Given the description of an element on the screen output the (x, y) to click on. 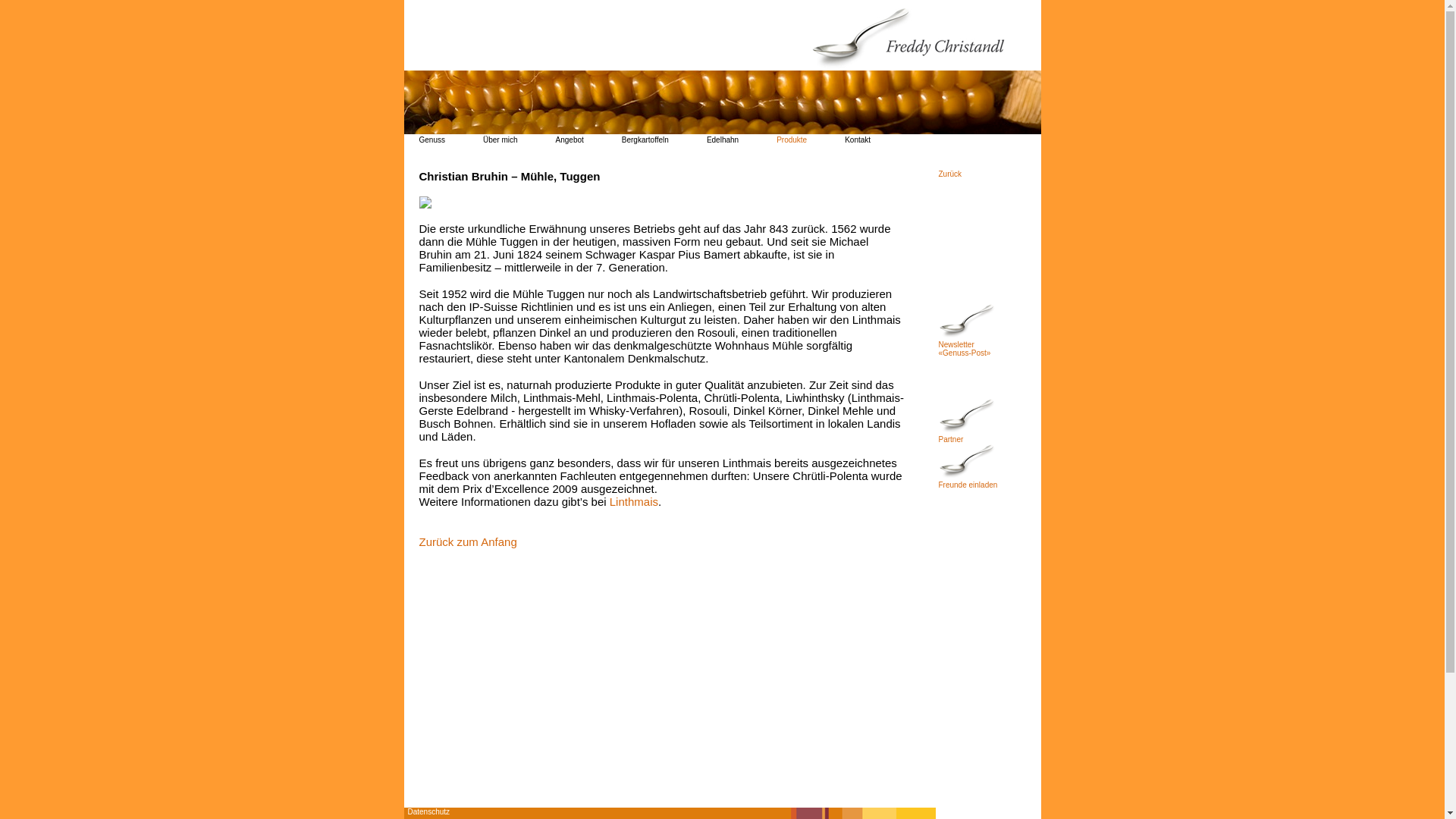
Datenschutz Element type: text (426, 809)
Bergkartoffeln Element type: text (644, 139)
Partner Element type: text (966, 434)
Linthmais Element type: text (633, 501)
Genuss Element type: text (431, 139)
Produkte Element type: text (791, 139)
Freunde einladen Element type: text (967, 479)
Angebot Element type: text (569, 139)
Kontakt Element type: text (857, 139)
Edelhahn Element type: text (722, 139)
